Given the description of an element on the screen output the (x, y) to click on. 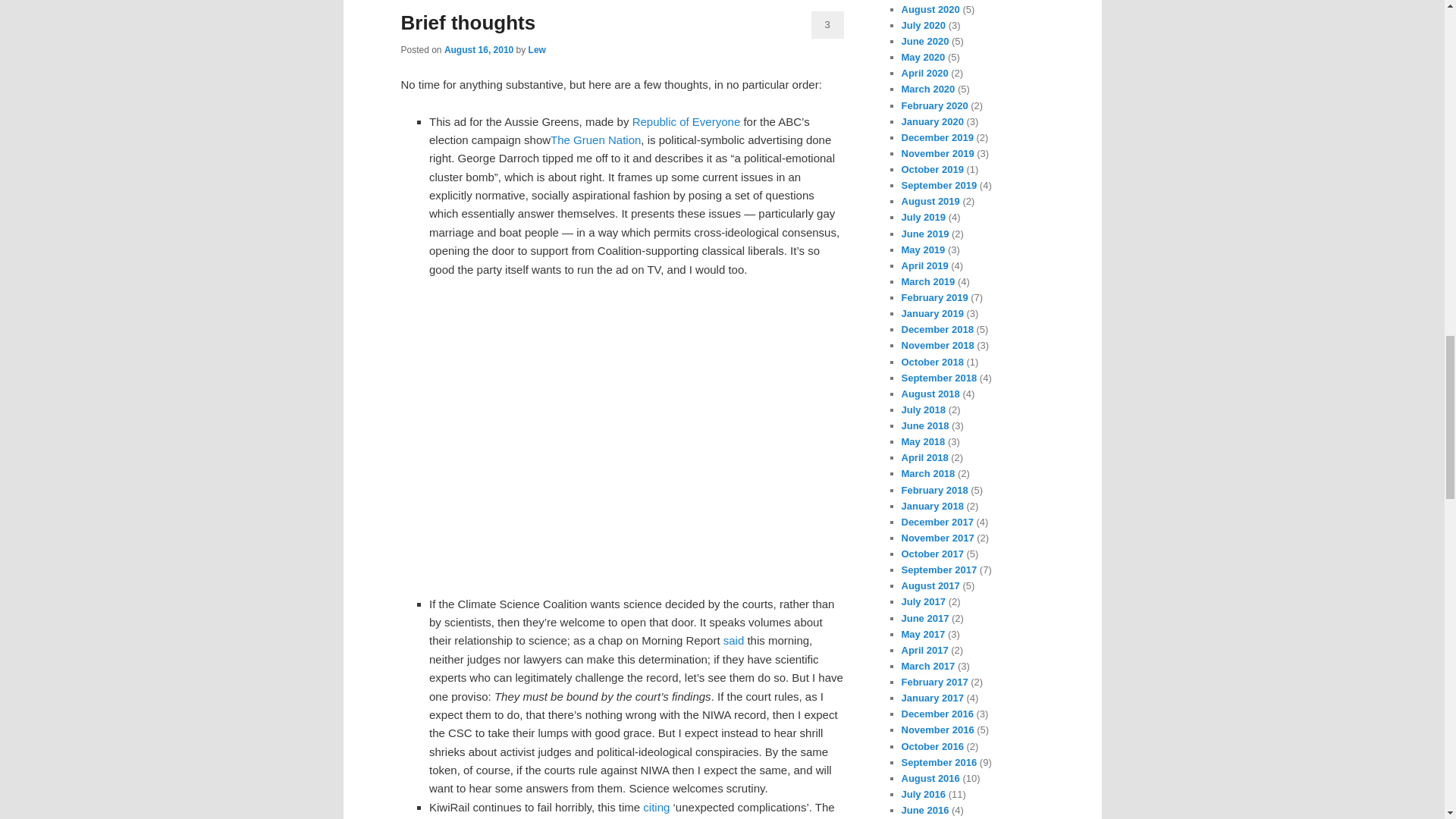
09:03 (478, 50)
View all posts by Lew (537, 50)
Lew (537, 50)
The Gruen Nation (595, 139)
Republic of Everyone (686, 121)
August 16, 2010 (478, 50)
said (733, 640)
3 (827, 24)
citing (656, 807)
Brief thoughts (467, 22)
